Given the description of an element on the screen output the (x, y) to click on. 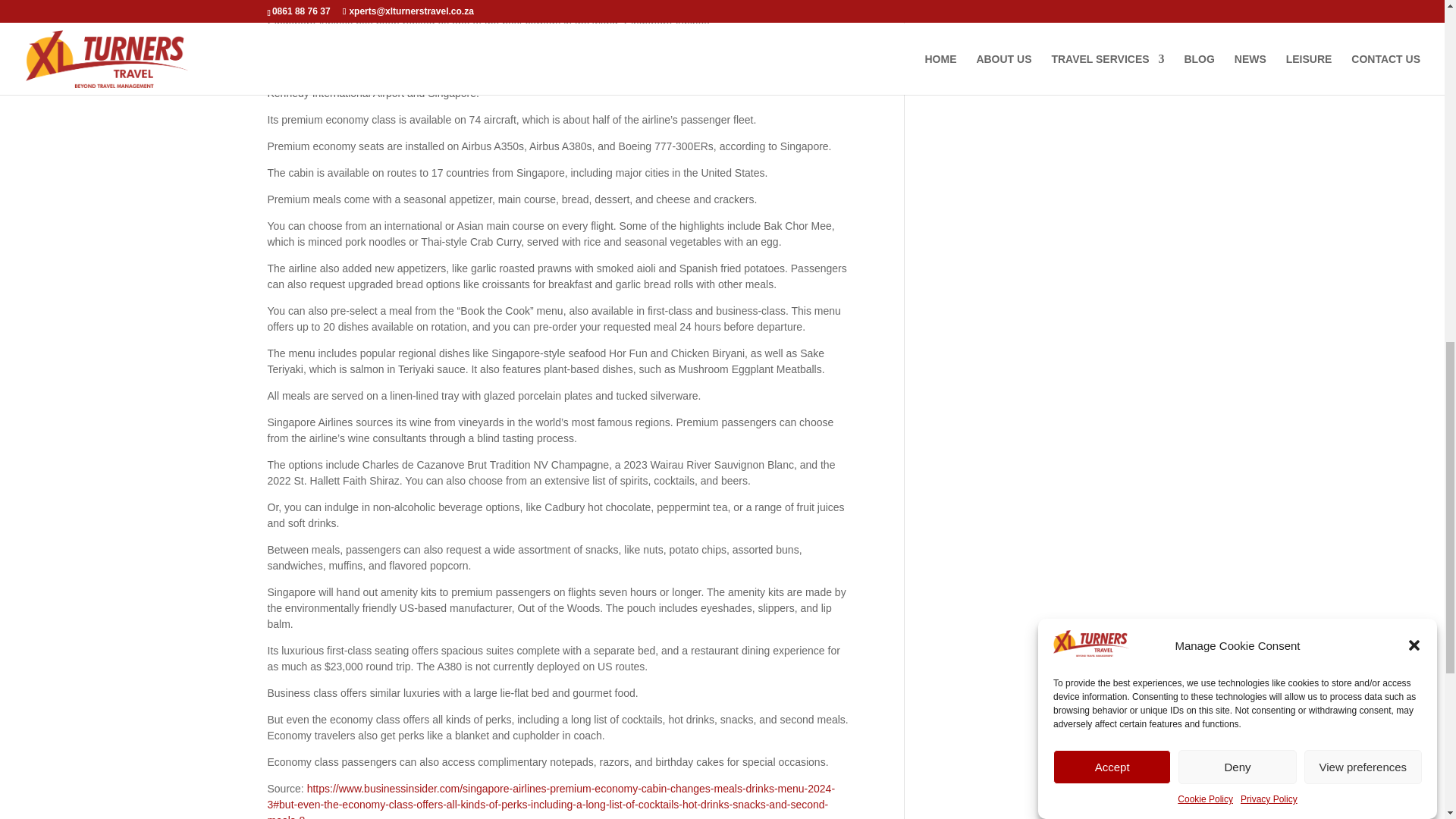
Accept (1111, 189)
View preferences (1363, 134)
Cookie Policy (1205, 91)
Privacy Policy (1268, 75)
Deny (1236, 161)
